Given the description of an element on the screen output the (x, y) to click on. 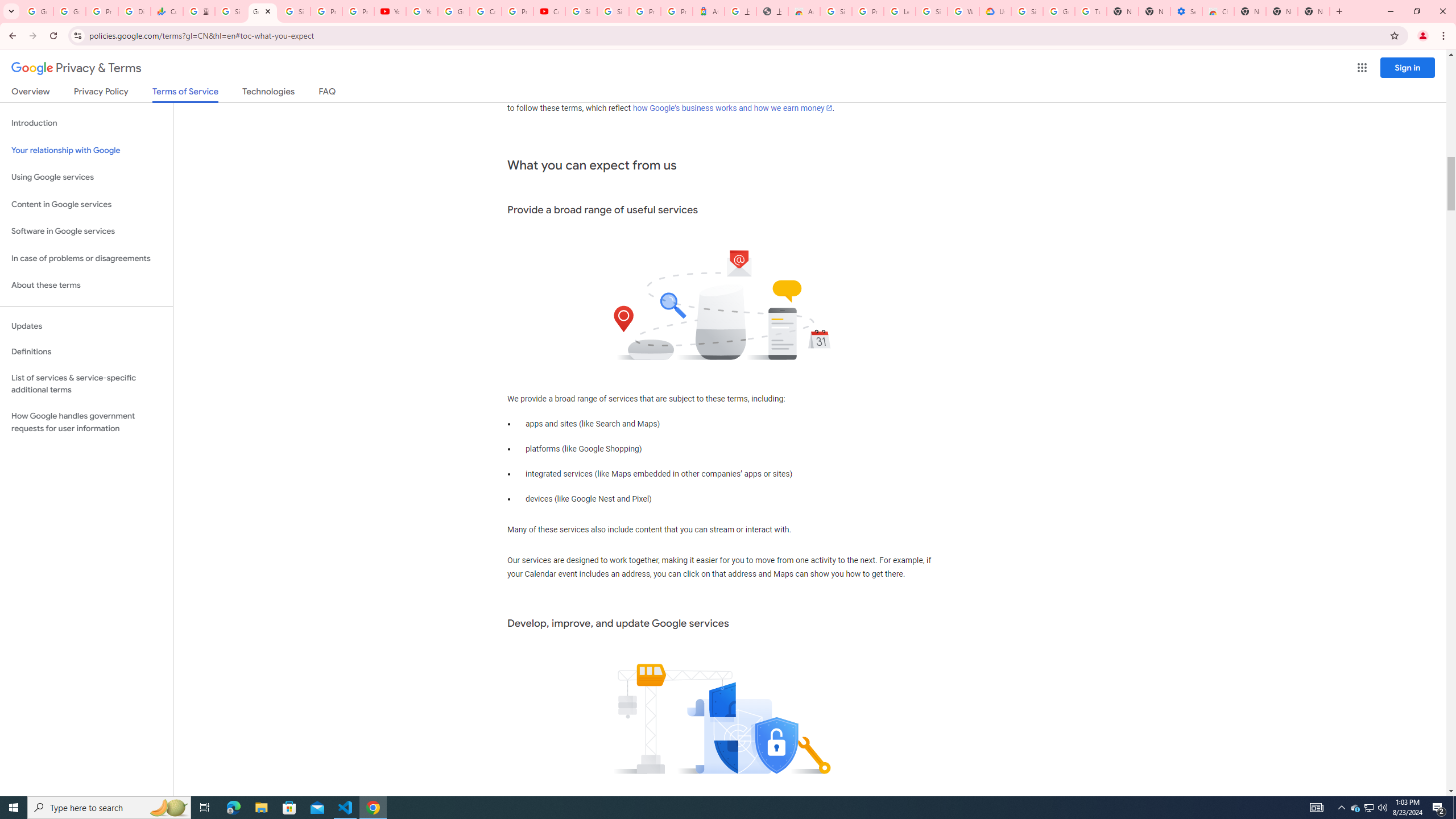
Chrome Web Store - Accessibility extensions (1217, 11)
Sign in - Google Accounts (836, 11)
